Given the description of an element on the screen output the (x, y) to click on. 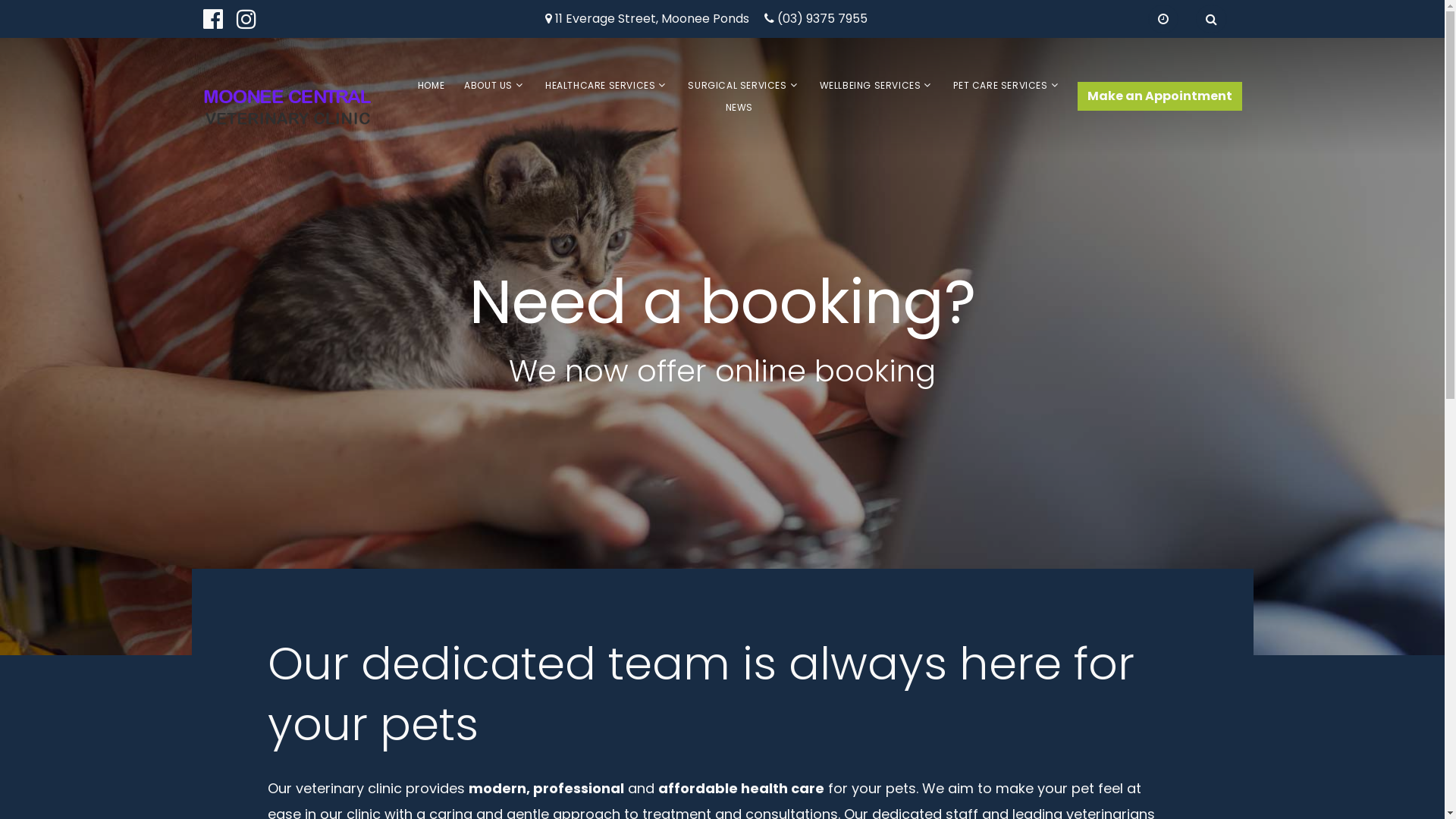
WELLBEING SERVICES Element type: text (870, 85)
HEALTHCARE SERVICES Element type: text (600, 85)
HOME Element type: text (430, 85)
NEWS Element type: text (739, 106)
SURGICAL SERVICES Element type: text (736, 85)
(03) 9375 7955 Element type: text (822, 19)
ABOUT US Element type: text (488, 85)
PET CARE SERVICES Element type: text (1000, 85)
Make an Appointment Element type: text (1158, 95)
